Given the description of an element on the screen output the (x, y) to click on. 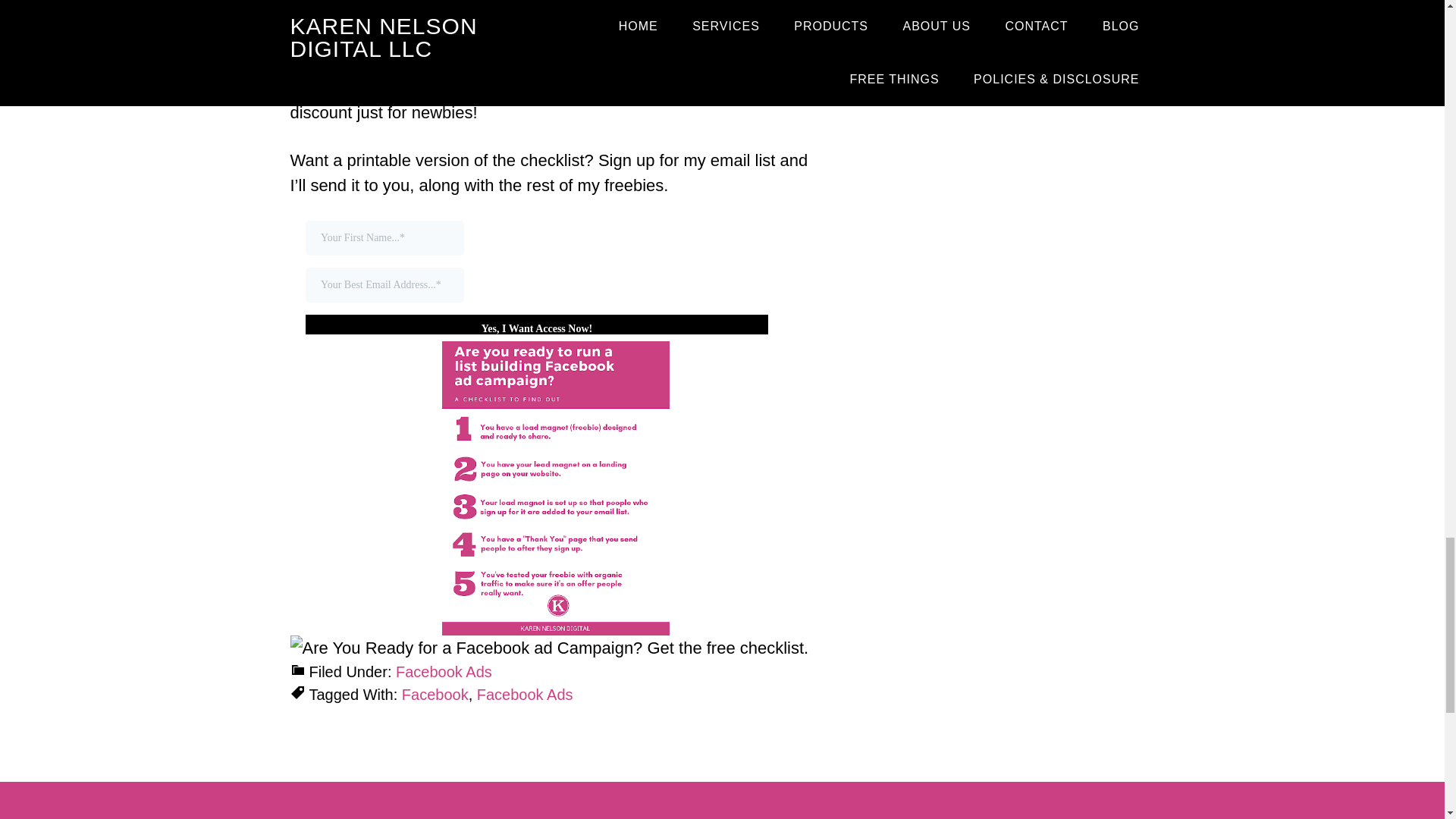
Facebook Ads (525, 694)
Lead Magnet :: Ready For List Building :: Squeeze Form  (555, 277)
get in touch with me about running a list building campaign (542, 75)
Facebook (434, 694)
Facebook Ads (444, 671)
